Given the description of an element on the screen output the (x, y) to click on. 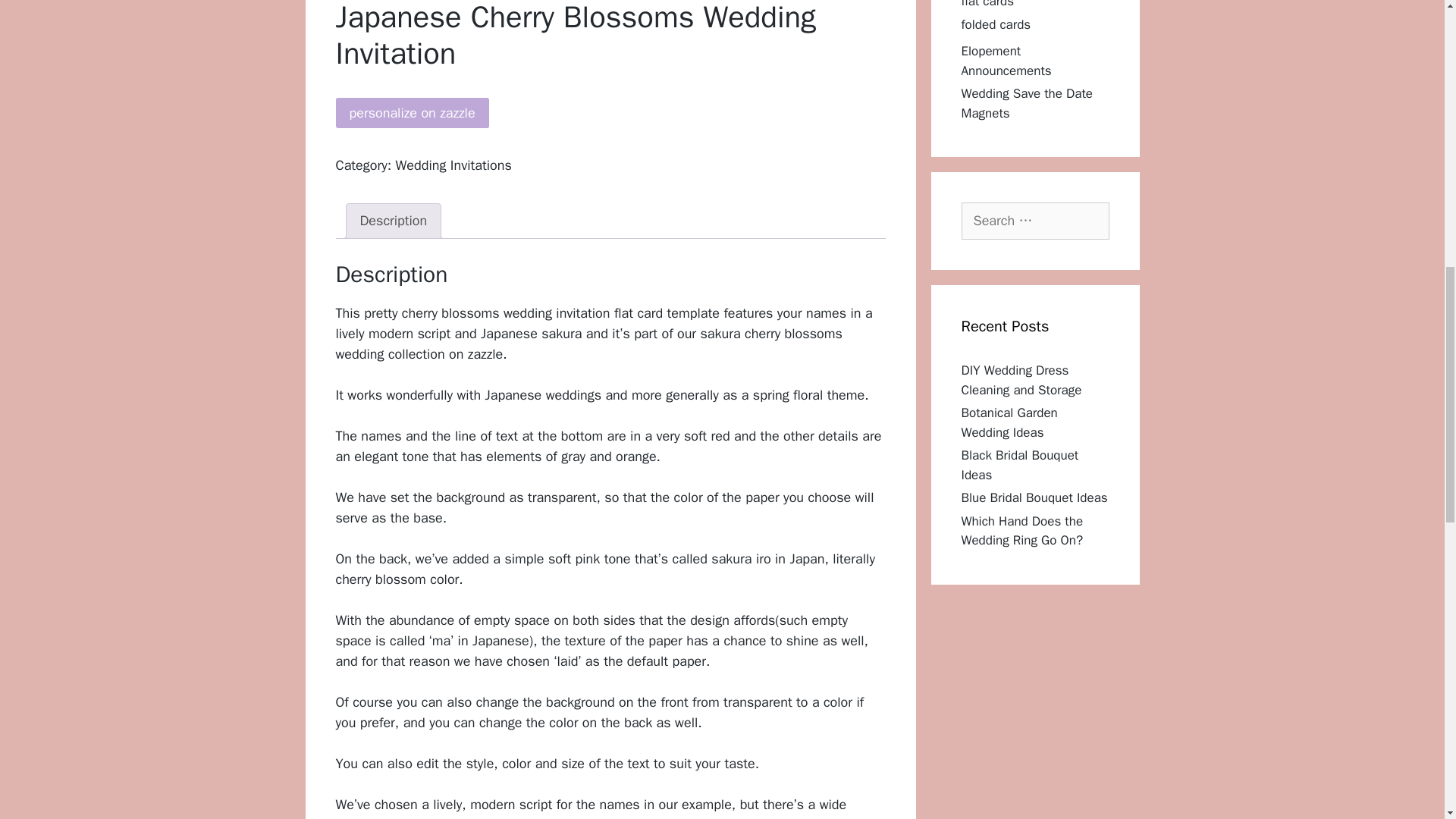
Description (392, 220)
sakura cherry blossoms wedding collection (587, 343)
Wedding Invitations (454, 165)
personalize on zazzle (410, 112)
Search for: (1034, 220)
